Given the description of an element on the screen output the (x, y) to click on. 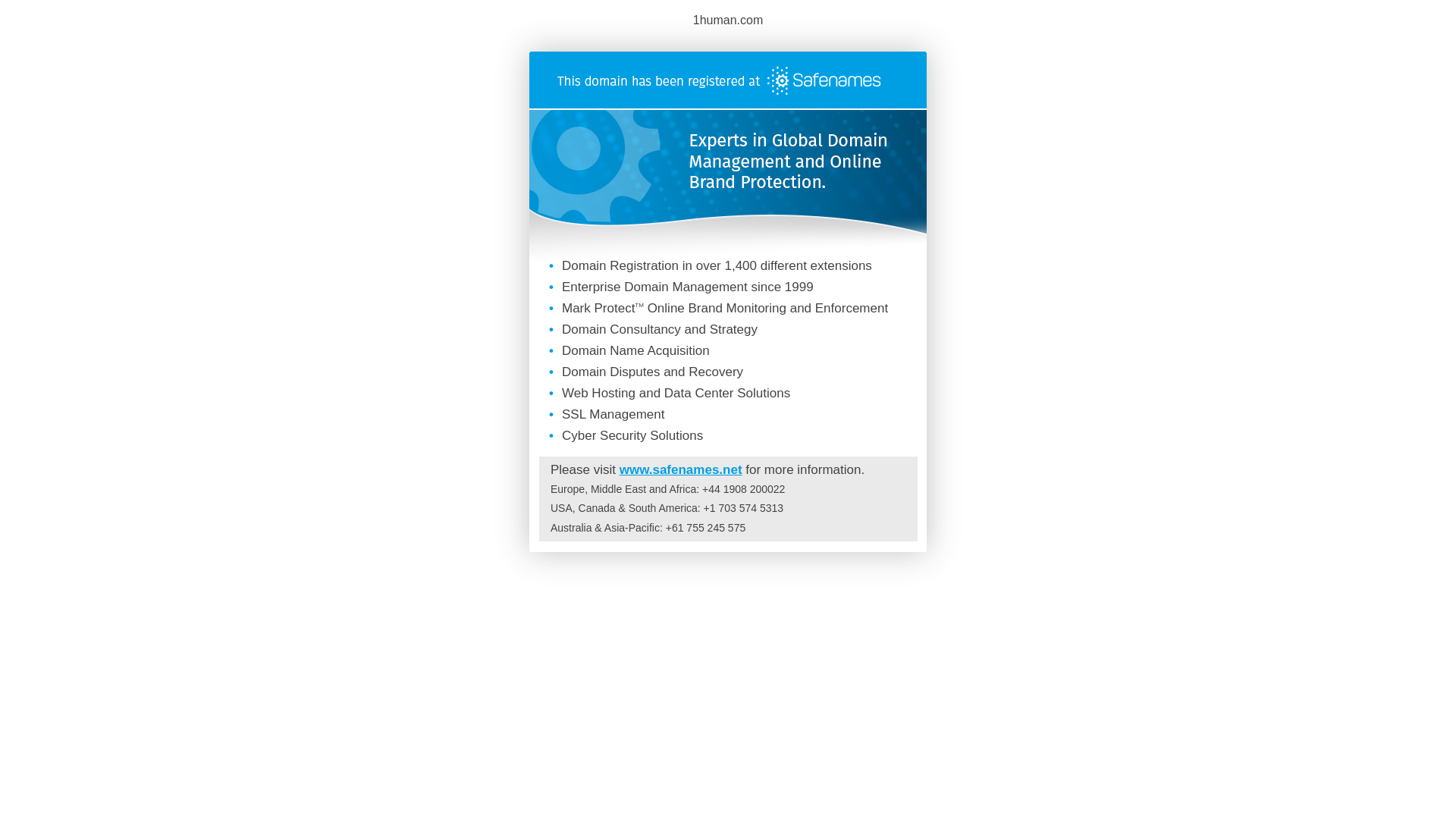
www.safenames.net Element type: text (680, 469)
